Given the description of an element on the screen output the (x, y) to click on. 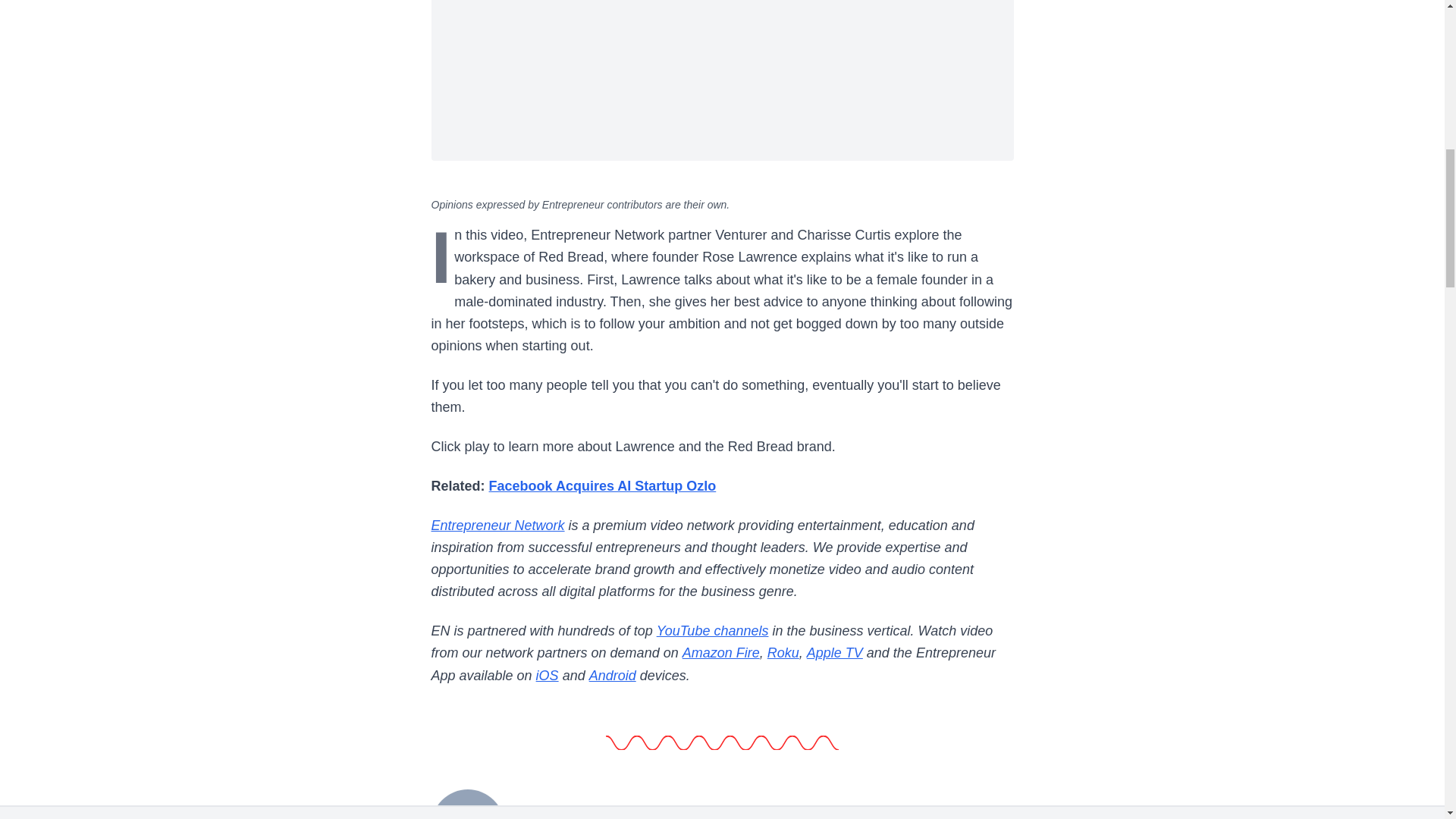
Venturer (466, 802)
